Given the description of an element on the screen output the (x, y) to click on. 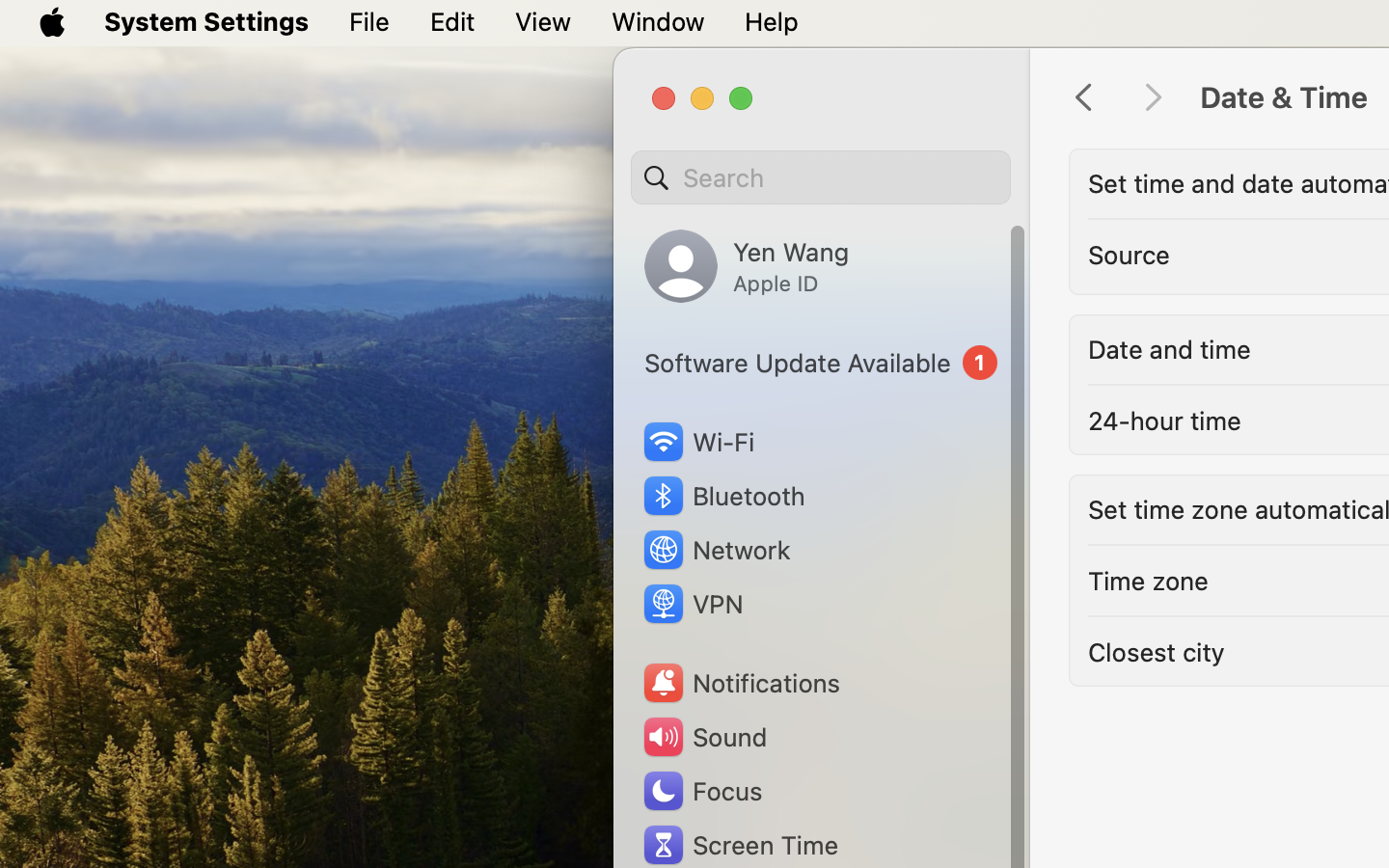
1 Element type: AXStaticText (820, 362)
Sound Element type: AXStaticText (703, 736)
Date and time Element type: AXStaticText (1169, 348)
Notifications Element type: AXStaticText (740, 682)
Bluetooth Element type: AXStaticText (723, 495)
